Given the description of an element on the screen output the (x, y) to click on. 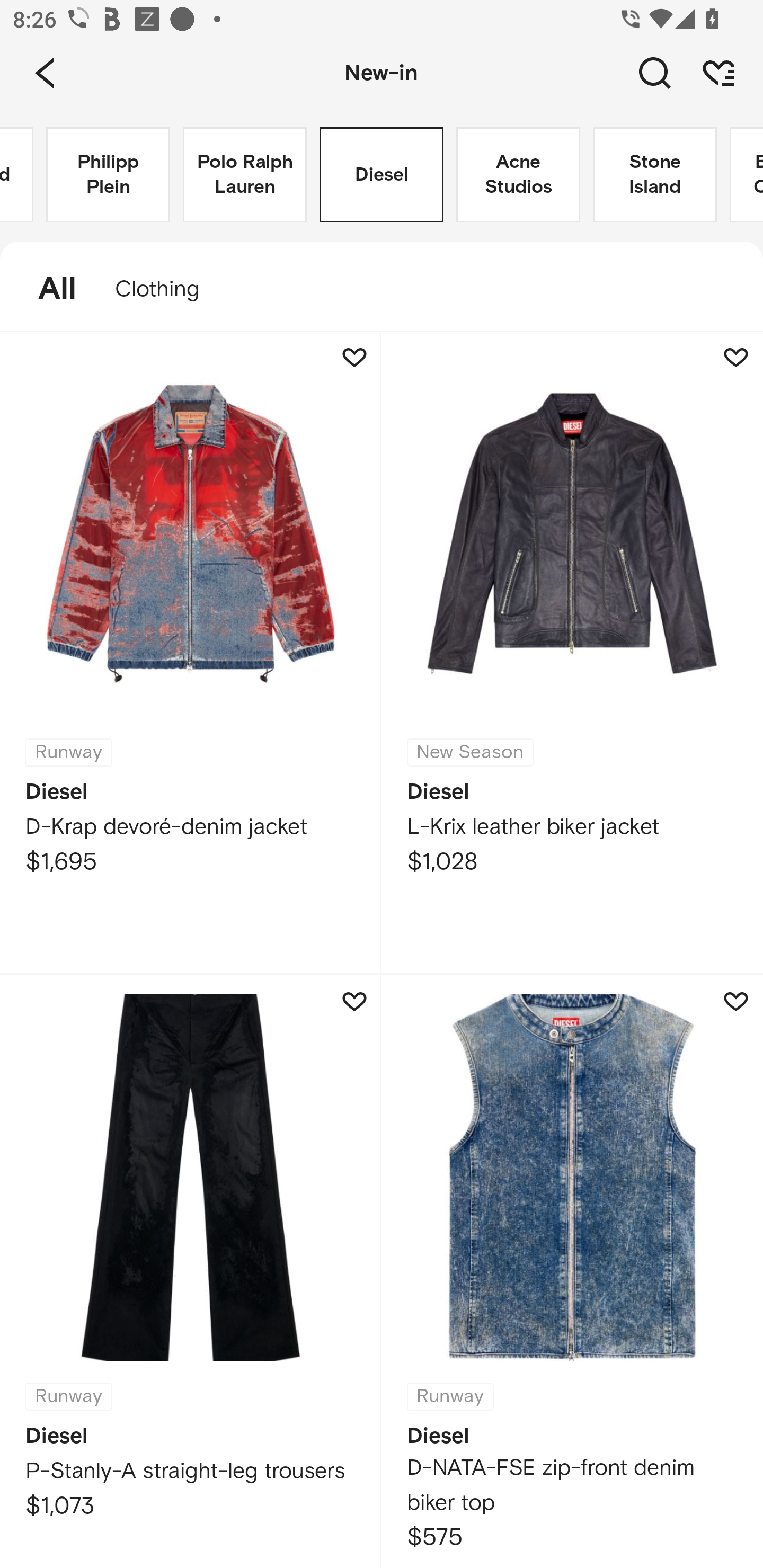
Philipp Plein (107, 174)
Polo Ralph Lauren (244, 174)
Diesel (381, 174)
Acne Studios (517, 174)
Stone Island (654, 174)
All (47, 288)
Clothing (166, 288)
Runway Diesel D-Krap devoré-denim jacket $1,695 (190, 652)
